Given the description of an element on the screen output the (x, y) to click on. 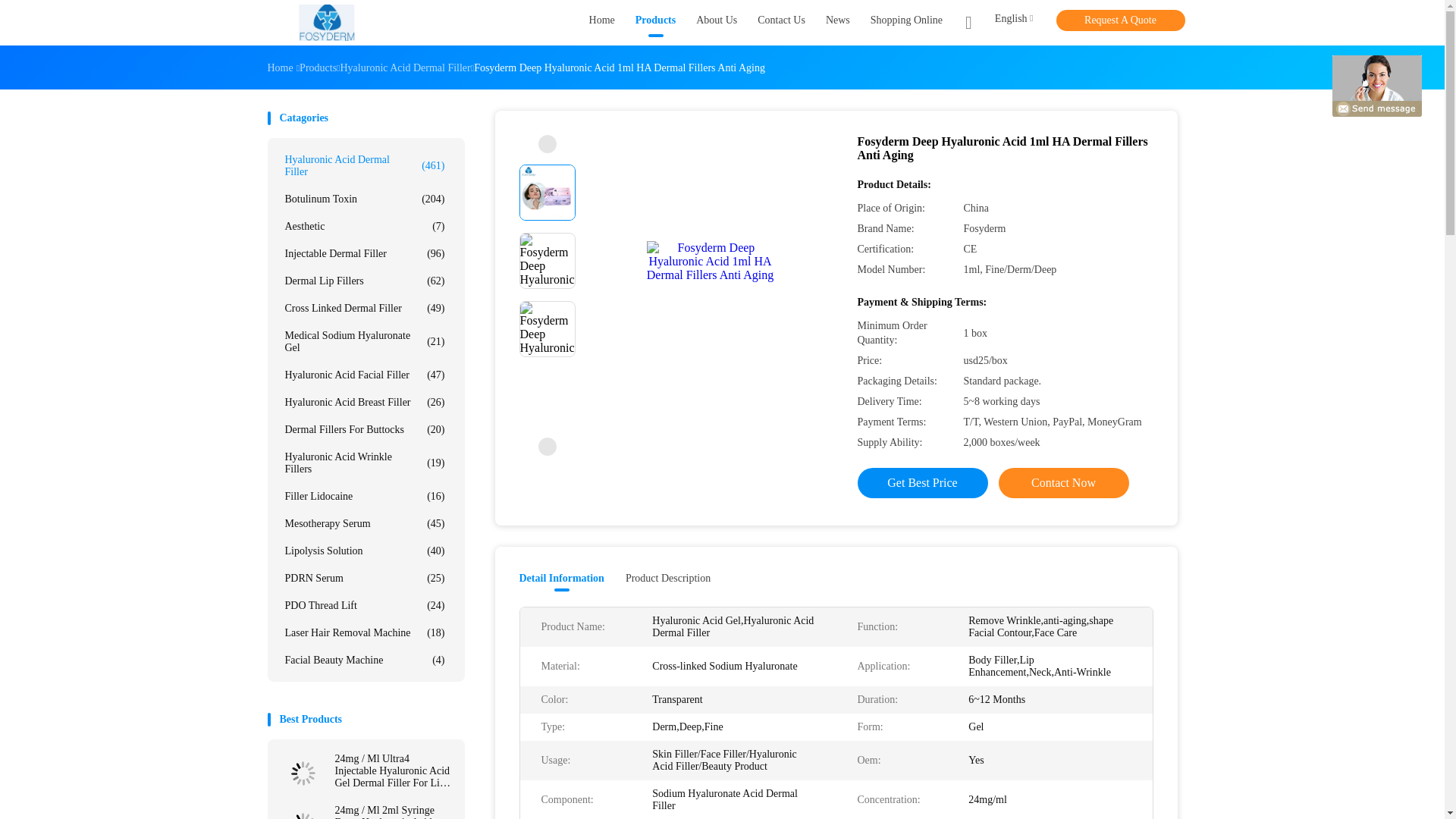
About Us (715, 22)
Products (654, 22)
Contact Us (781, 22)
Shopping Online (906, 22)
News (837, 22)
Home (601, 22)
Jinan Fosychan International Trading Co., Ltd. (326, 22)
